Given the description of an element on the screen output the (x, y) to click on. 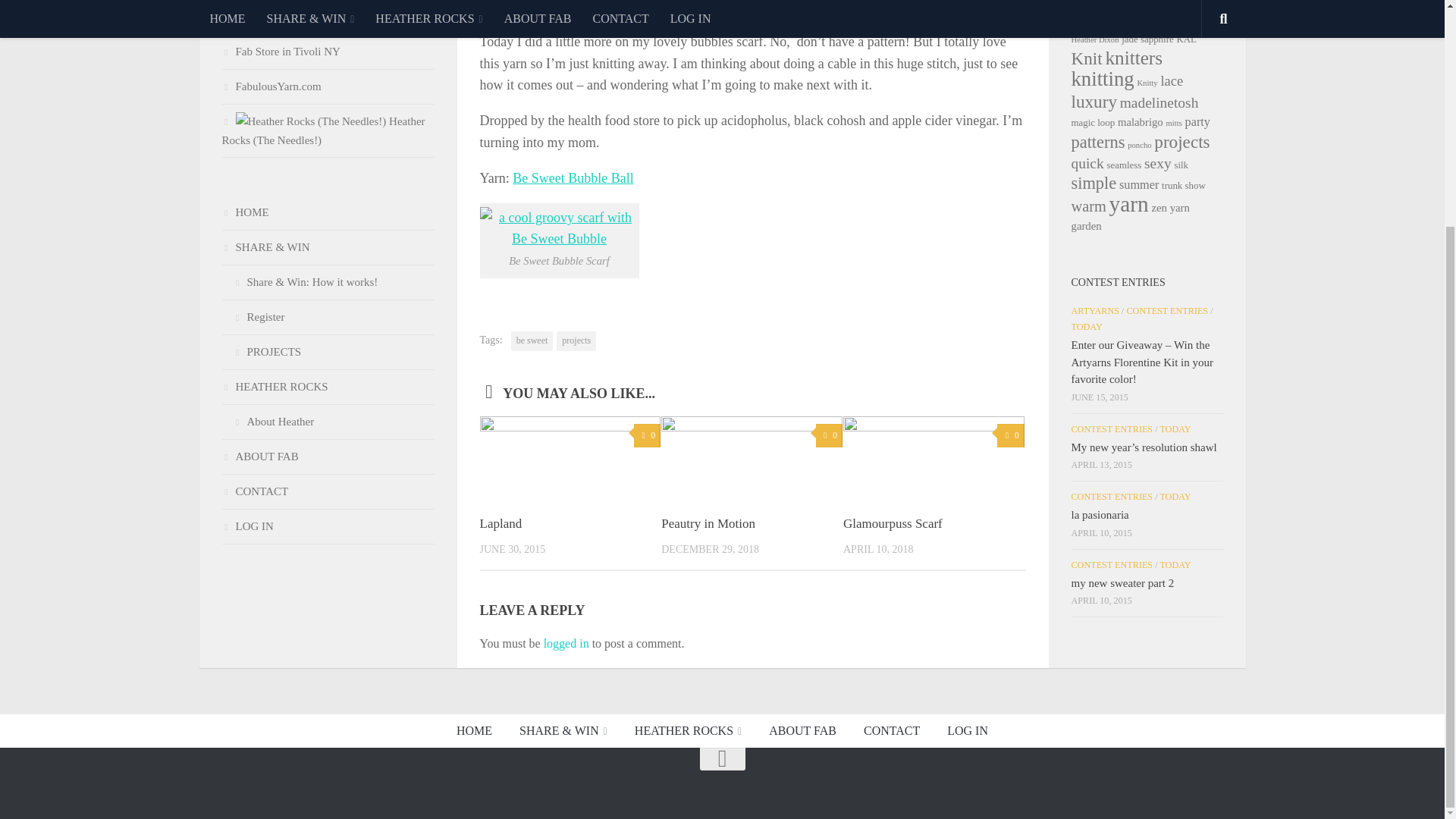
Fabulous Yarn: Fibers for Fanatics! (270, 86)
knitbubblesample (559, 228)
Be Sweet Bubble Ball (572, 177)
